Given the description of an element on the screen output the (x, y) to click on. 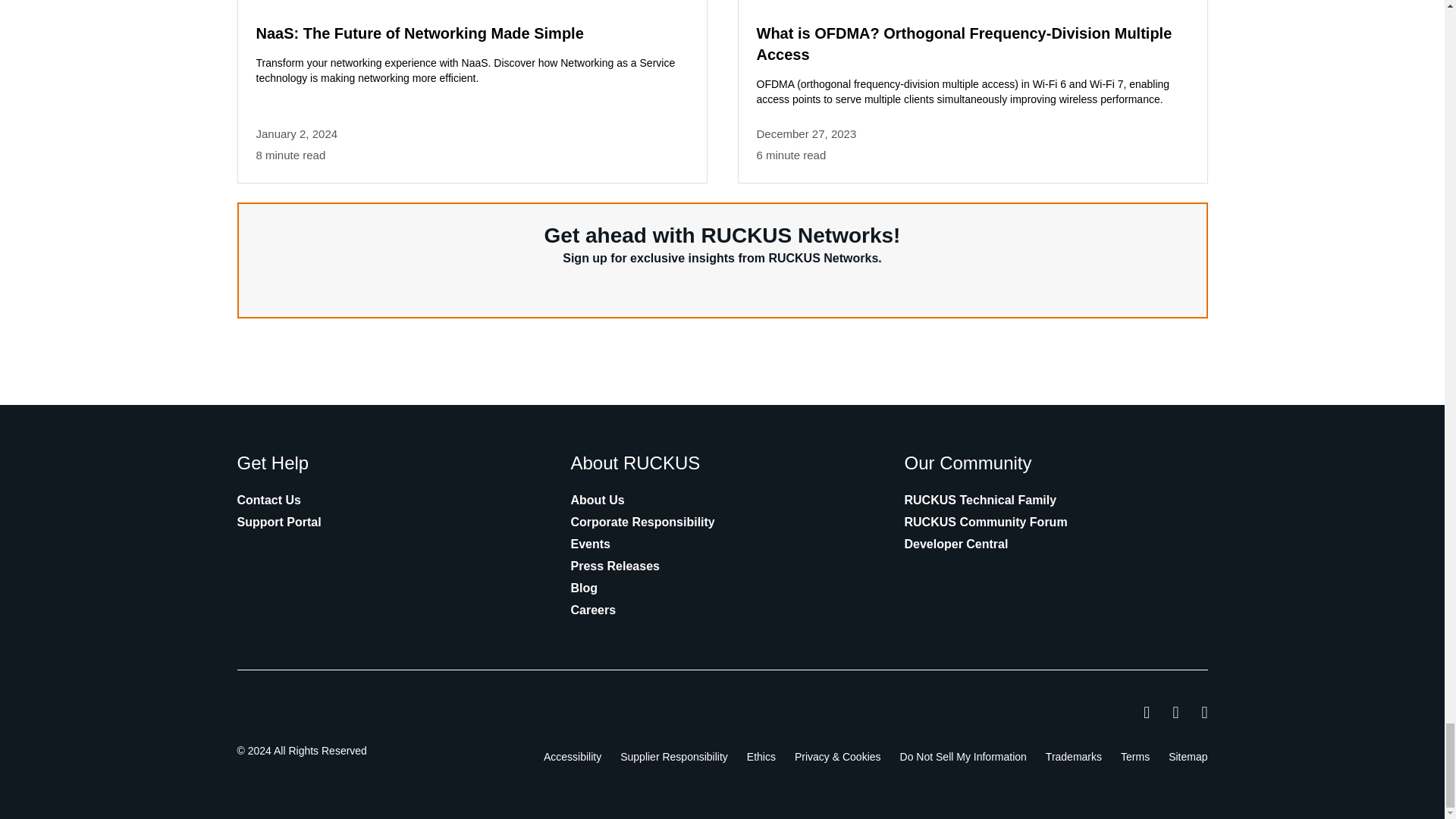
Home (315, 712)
Careers at RUCKUS Networks (592, 609)
